Given the description of an element on the screen output the (x, y) to click on. 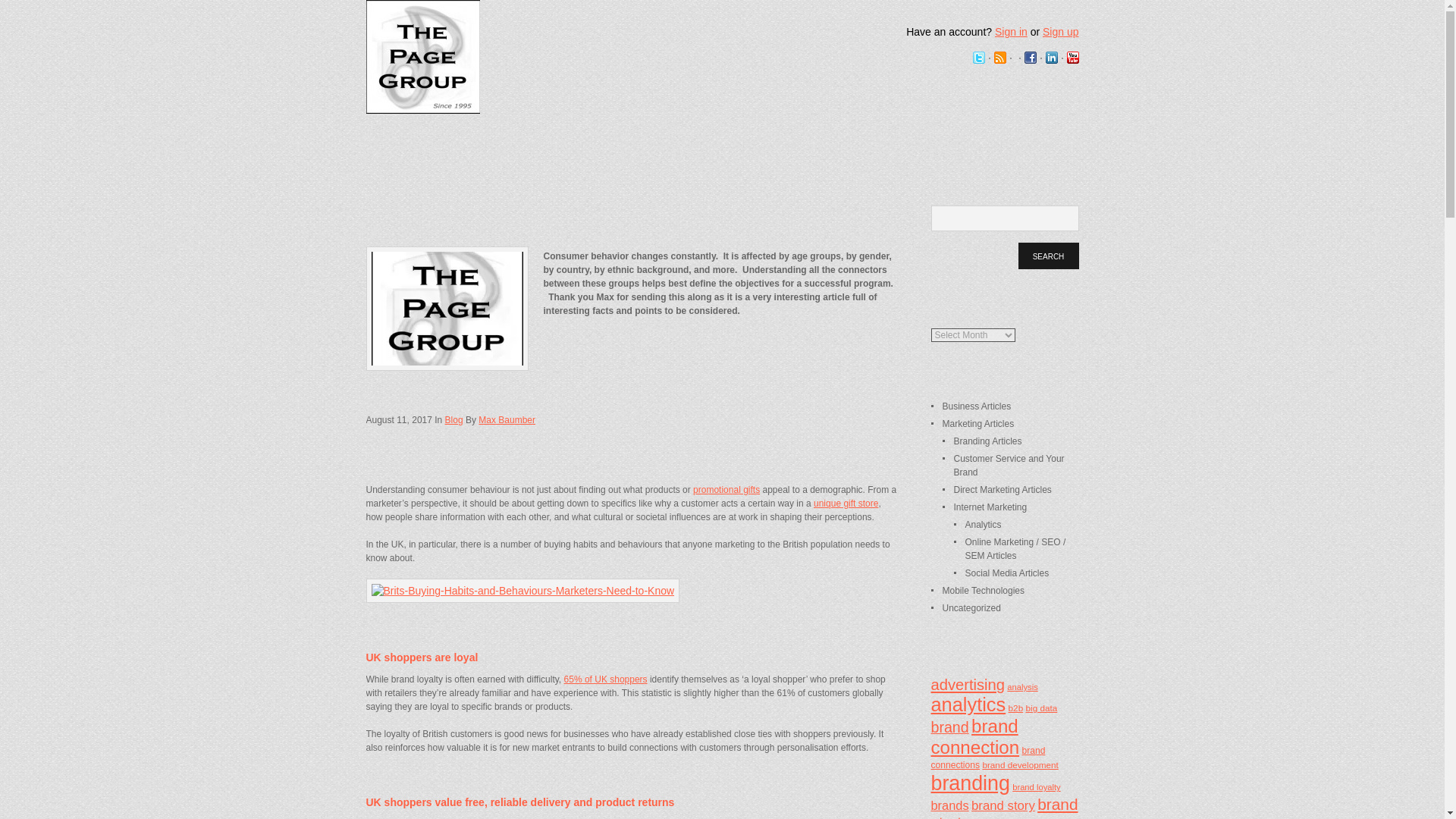
promotional gifts (726, 489)
Max Baumber (507, 419)
Blog (454, 419)
Search (1047, 255)
unique gift store (845, 502)
facebook (1029, 58)
feed (999, 58)
Sign in (1010, 31)
Sign up (1060, 31)
